Given the description of an element on the screen output the (x, y) to click on. 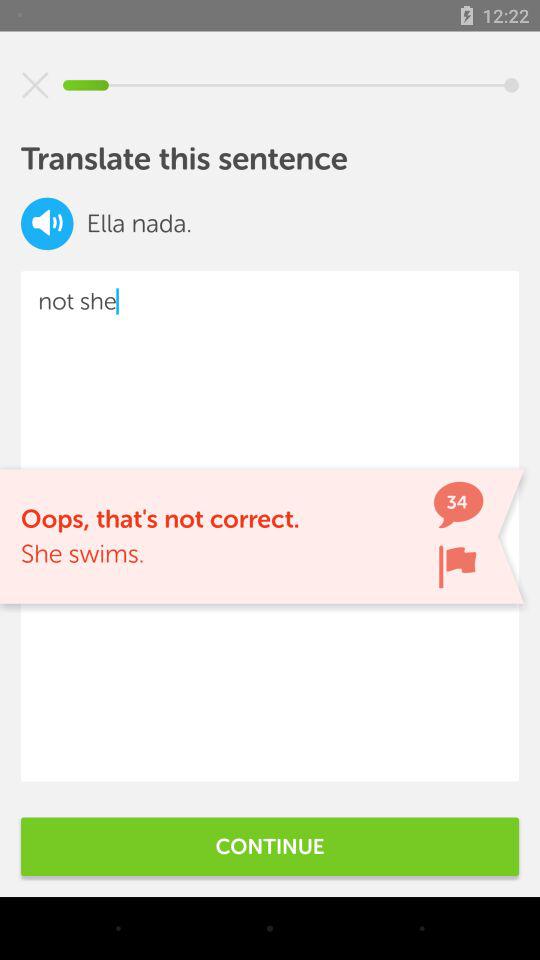
cancel the process (35, 85)
